Given the description of an element on the screen output the (x, y) to click on. 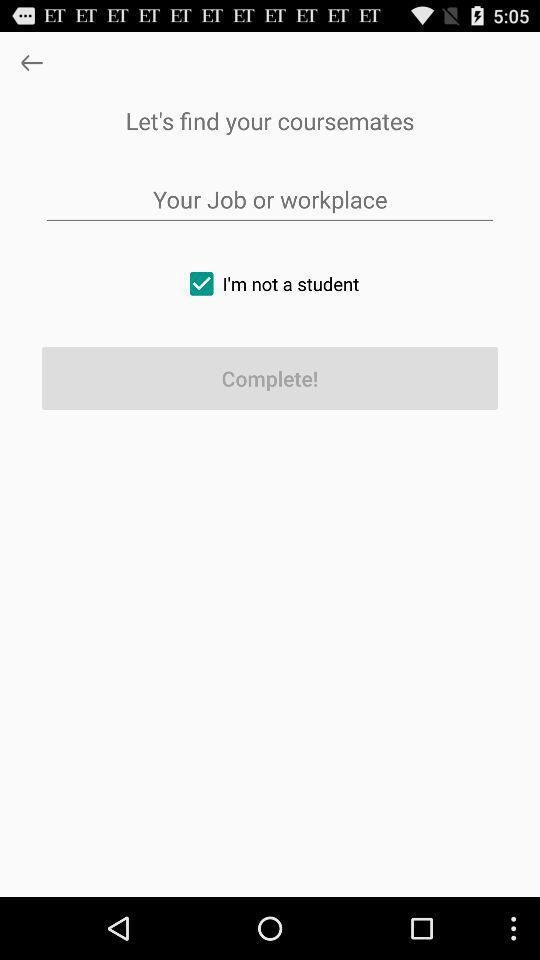
enter data (270, 199)
